Given the description of an element on the screen output the (x, y) to click on. 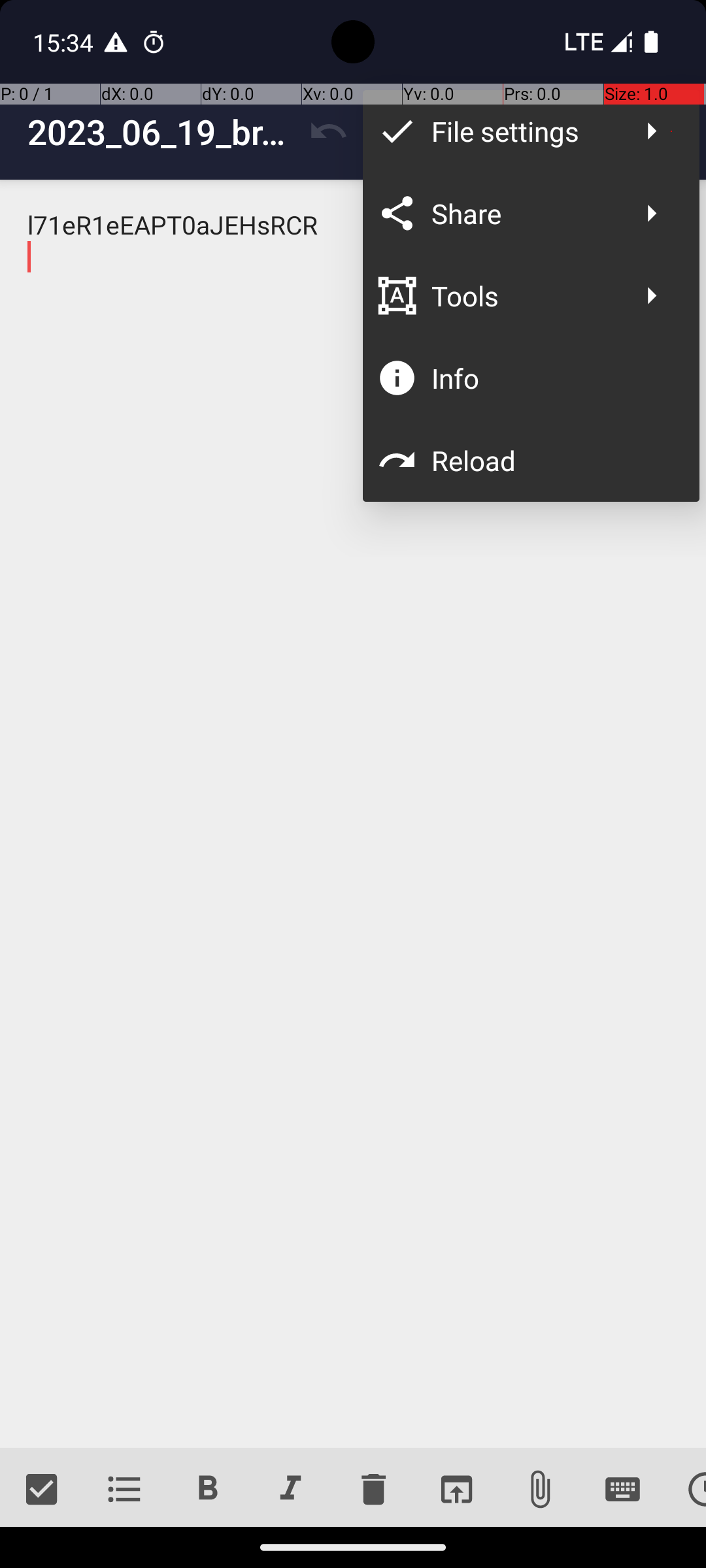
File settings Element type: android.widget.TextView (524, 130)
Tools Element type: android.widget.TextView (524, 295)
Info Element type: android.widget.TextView (551, 377)
Reload Element type: android.widget.TextView (551, 459)
